Given the description of an element on the screen output the (x, y) to click on. 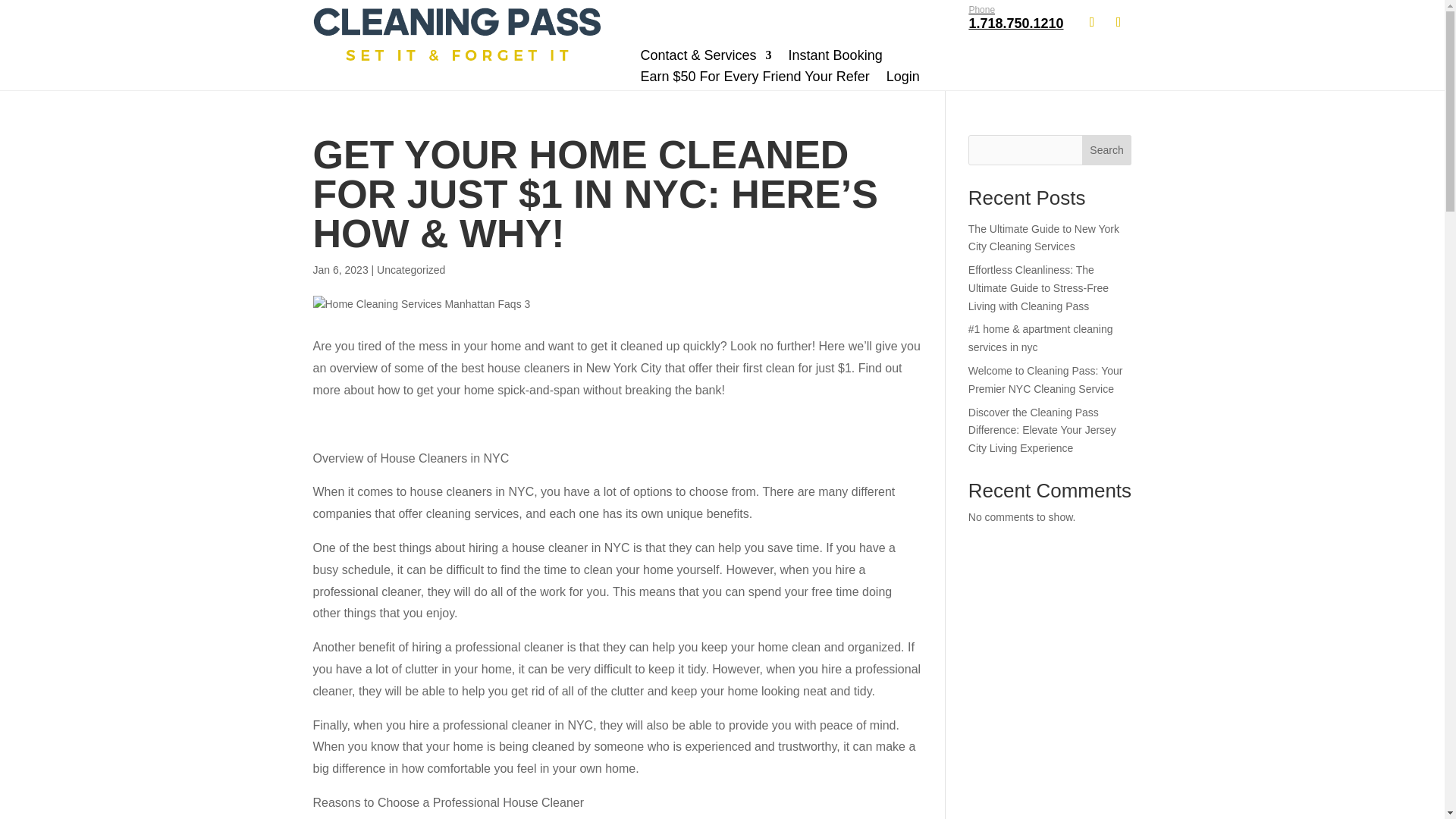
Search (1106, 150)
The Ultimate Guide to New York City Cleaning Services (1015, 18)
Uncategorized (1043, 237)
Login (411, 269)
Welcome to Cleaning Pass: Your Premier NYC Cleaning Service (903, 76)
Instant Booking (1045, 379)
